Given the description of an element on the screen output the (x, y) to click on. 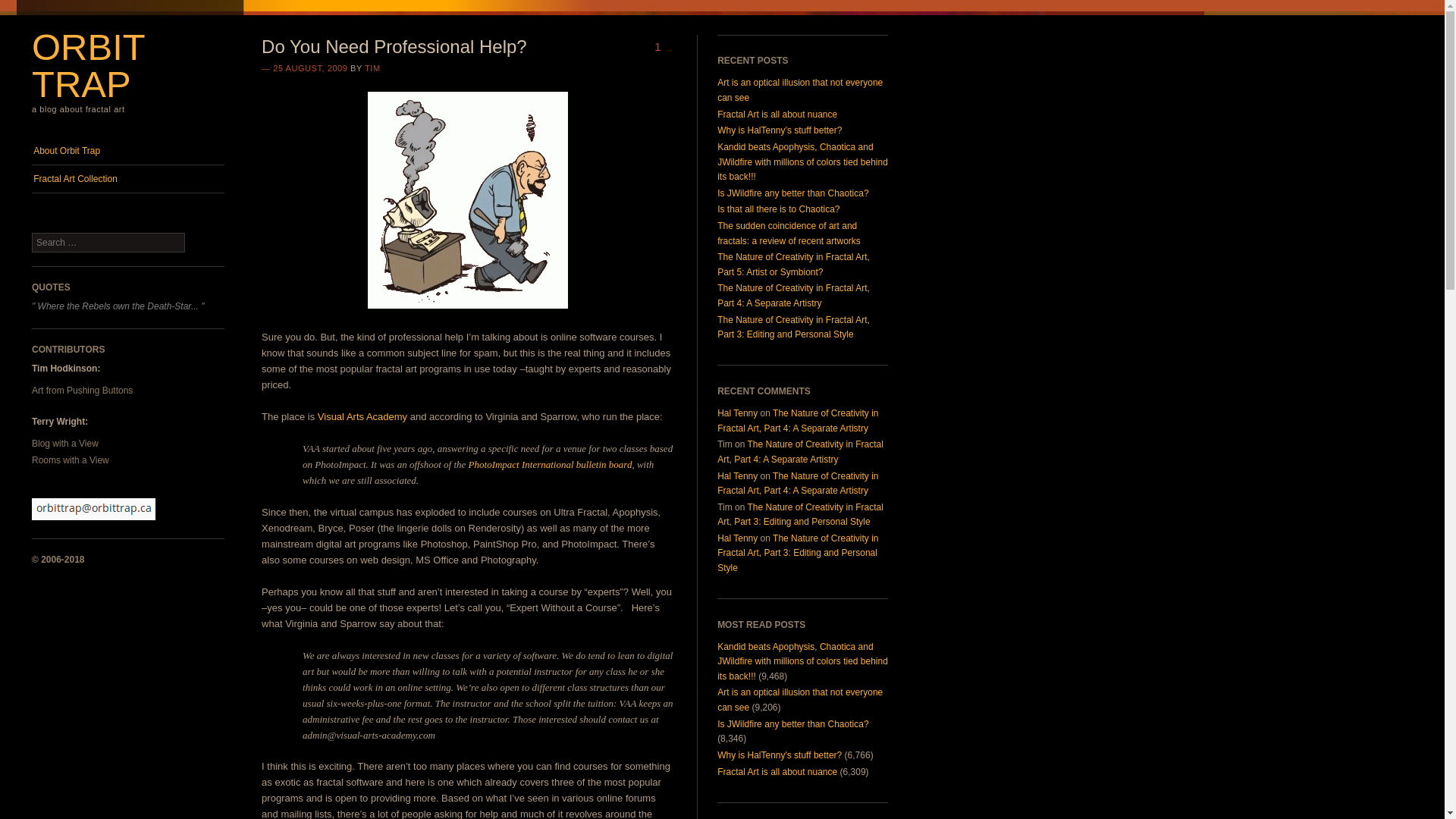
Is JWildfire any better than Chaotica? (792, 193)
Art is an optical illusion that not everyone can see (799, 699)
Art from Pushing Buttons (82, 389)
About Orbit Trap (128, 150)
Is JWildfire any better than Chaotica? (792, 724)
Visual Arts Academy (362, 416)
